Given the description of an element on the screen output the (x, y) to click on. 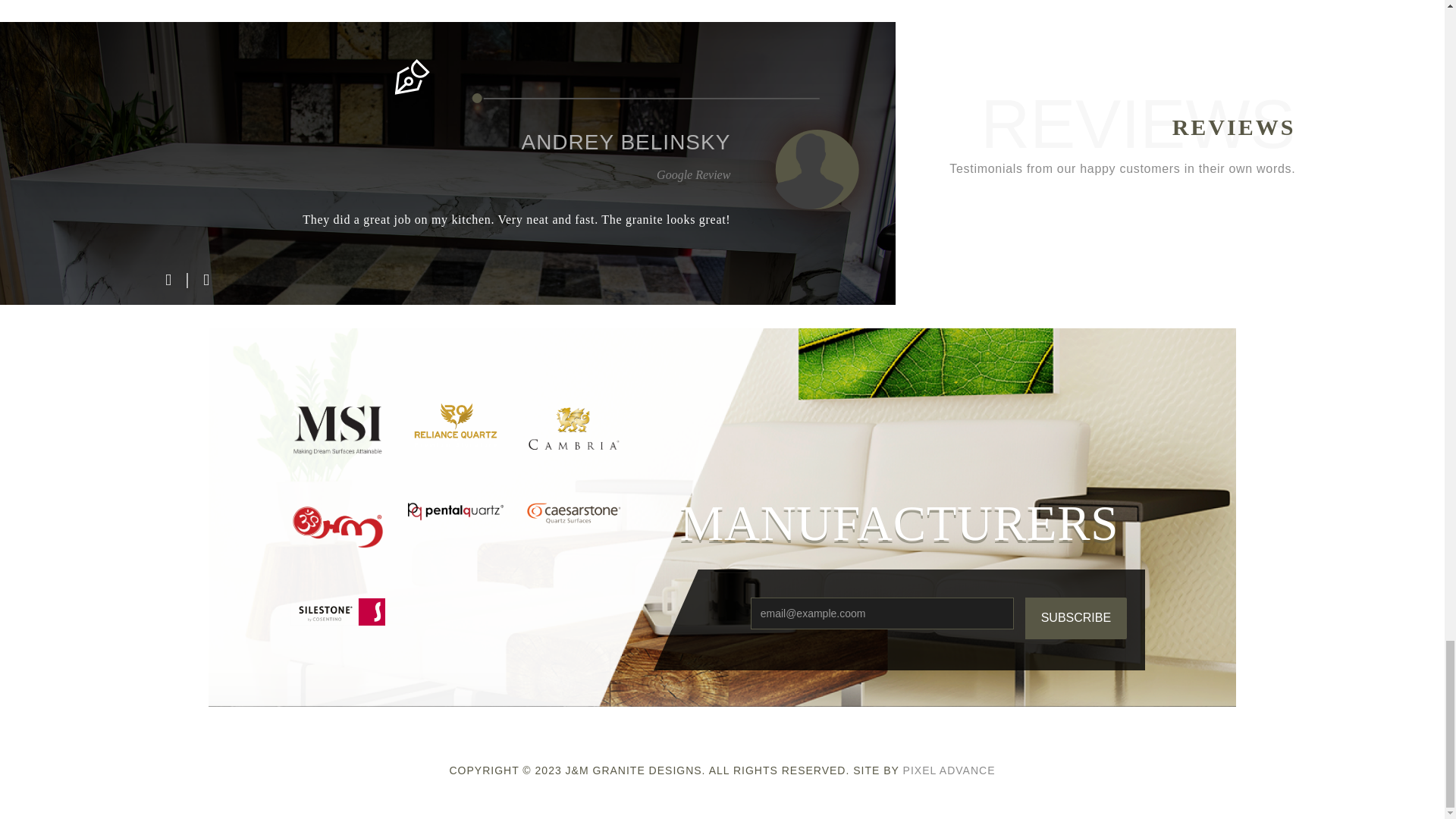
SUBSCRIBE (1075, 618)
PIXEL ADVANCE (948, 770)
